Given the description of an element on the screen output the (x, y) to click on. 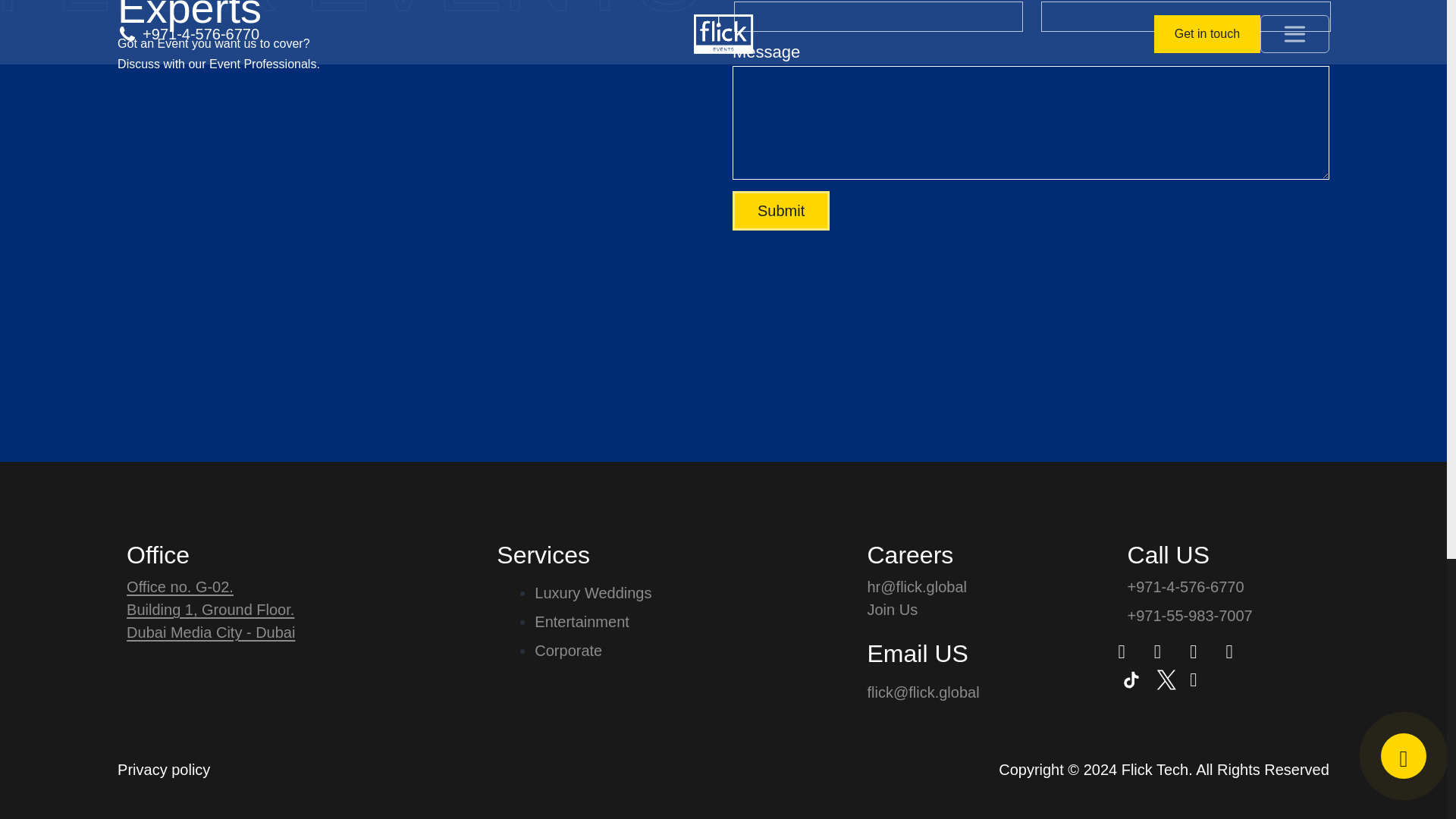
Luxury Weddings (592, 592)
Join Us (923, 609)
Submit (780, 210)
Submit (780, 210)
Entertainment (592, 621)
Corporate (592, 650)
